Given the description of an element on the screen output the (x, y) to click on. 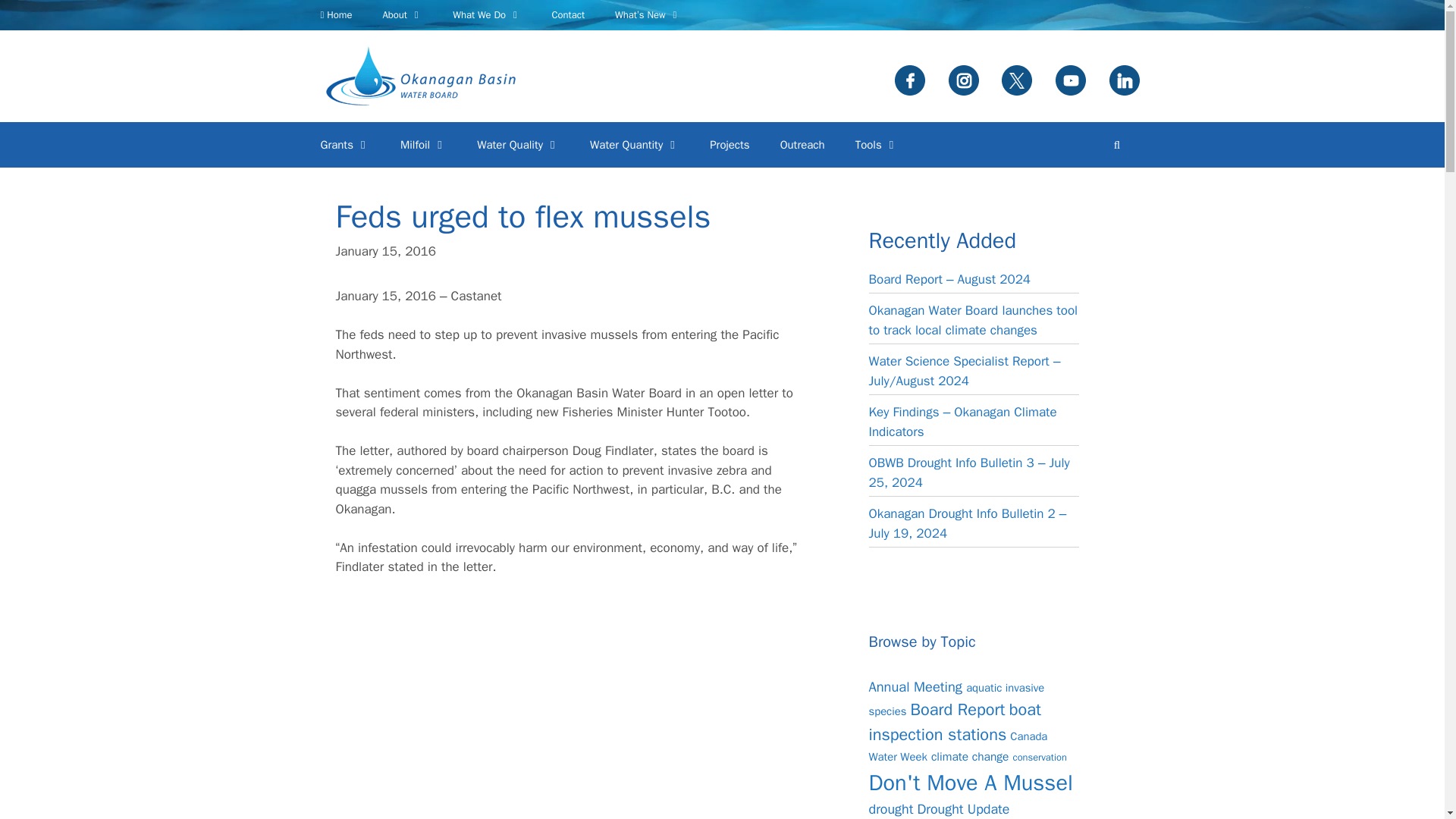
About (402, 15)
Home (335, 15)
Contact (567, 15)
About (402, 15)
What We Do (486, 15)
 Home (335, 15)
